Given the description of an element on the screen output the (x, y) to click on. 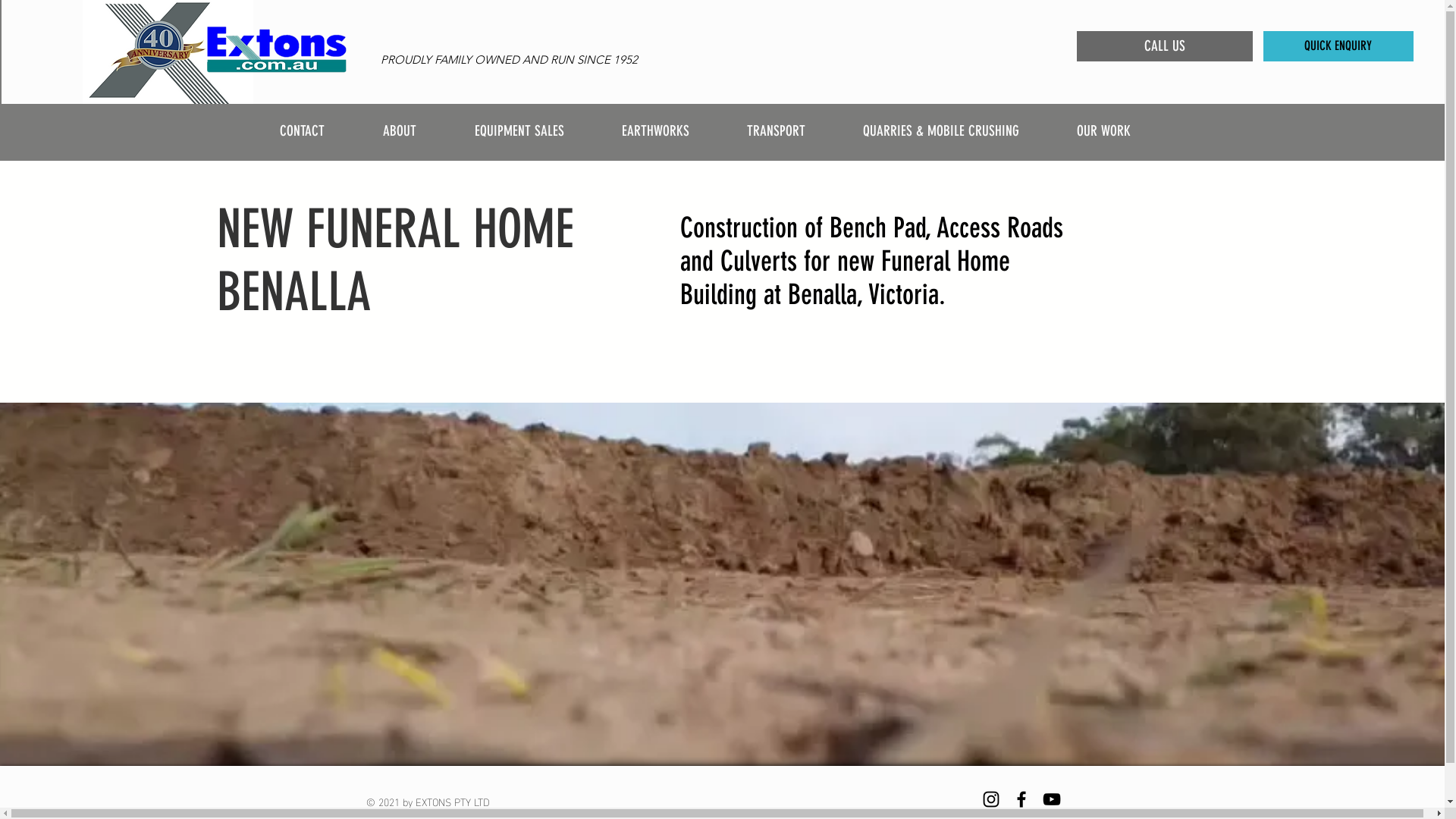
TRANSPORT Element type: text (793, 130)
ABOUT Element type: text (417, 130)
QUARRIES & MOBILE CRUSHING Element type: text (957, 130)
OUR WORK Element type: text (1120, 130)
EQUIPMENT SALES Element type: text (535, 130)
CONTACT Element type: text (319, 130)
QUICK ENQUIRY Element type: text (1338, 46)
EARTHWORKS Element type: text (671, 130)
CALL US Element type: text (1164, 46)
